Given the description of an element on the screen output the (x, y) to click on. 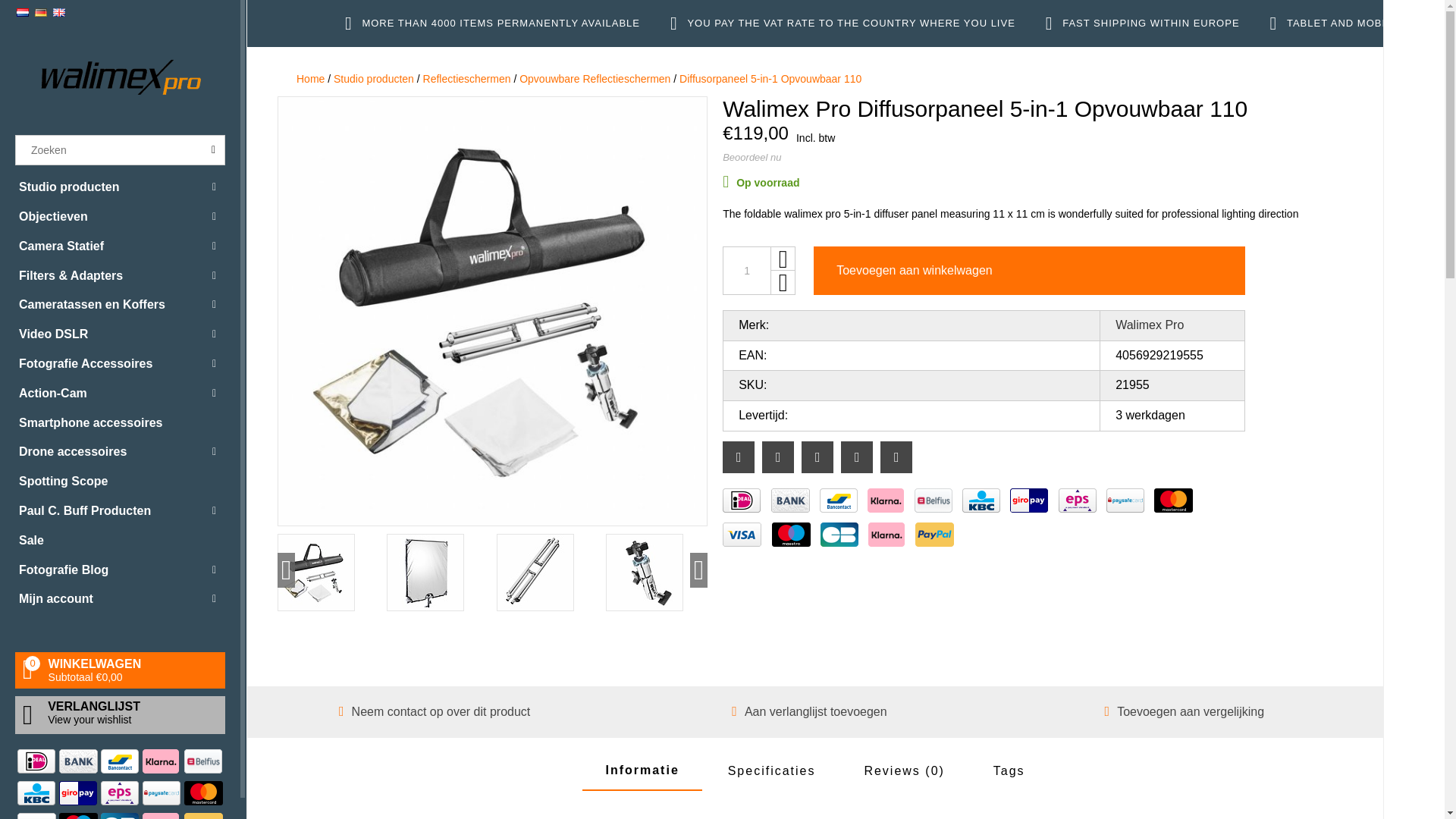
1 (746, 270)
Studio producten (119, 187)
English (58, 12)
Deutsch (40, 12)
Studio producten (119, 187)
Nederlands (22, 12)
